Given the description of an element on the screen output the (x, y) to click on. 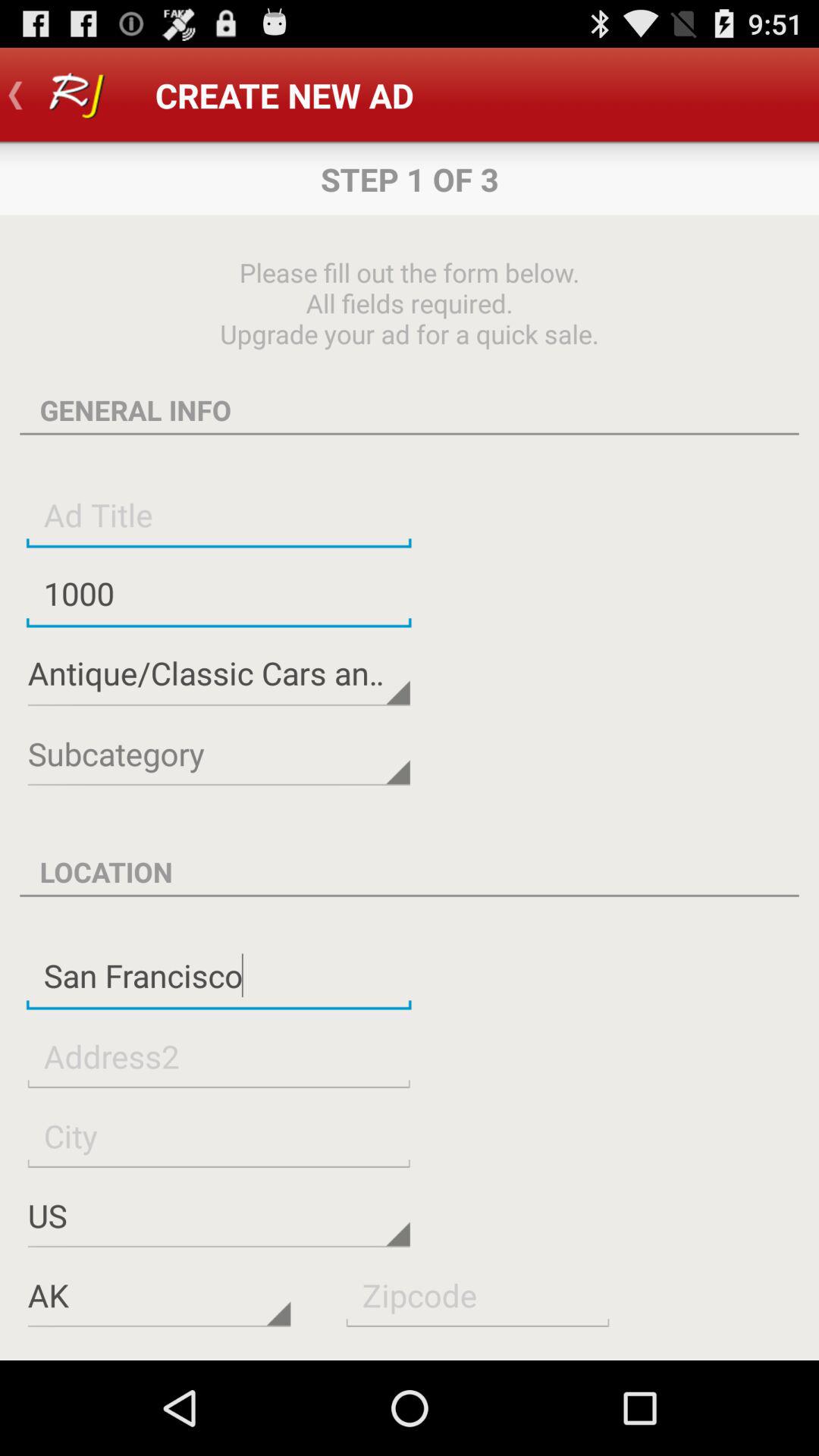
type second line of address (218, 1055)
